Given the description of an element on the screen output the (x, y) to click on. 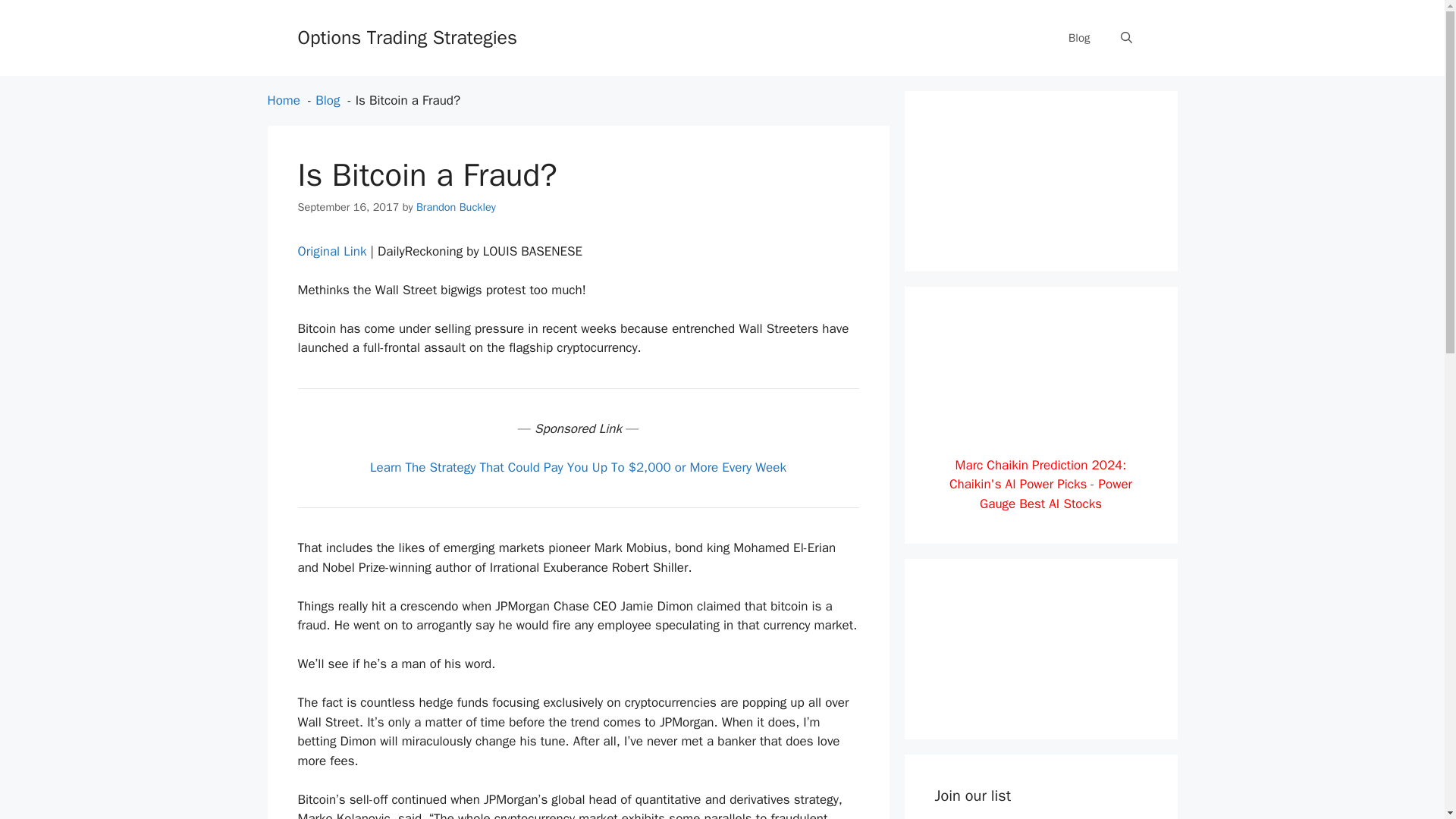
Original Link (331, 251)
Manward Money Report Review (1040, 698)
Home (282, 100)
Brandon Buckley (456, 206)
Options Trading Strategies (406, 37)
Blog (327, 100)
Blog (1078, 37)
View all posts by Brandon Buckley (456, 206)
